Given the description of an element on the screen output the (x, y) to click on. 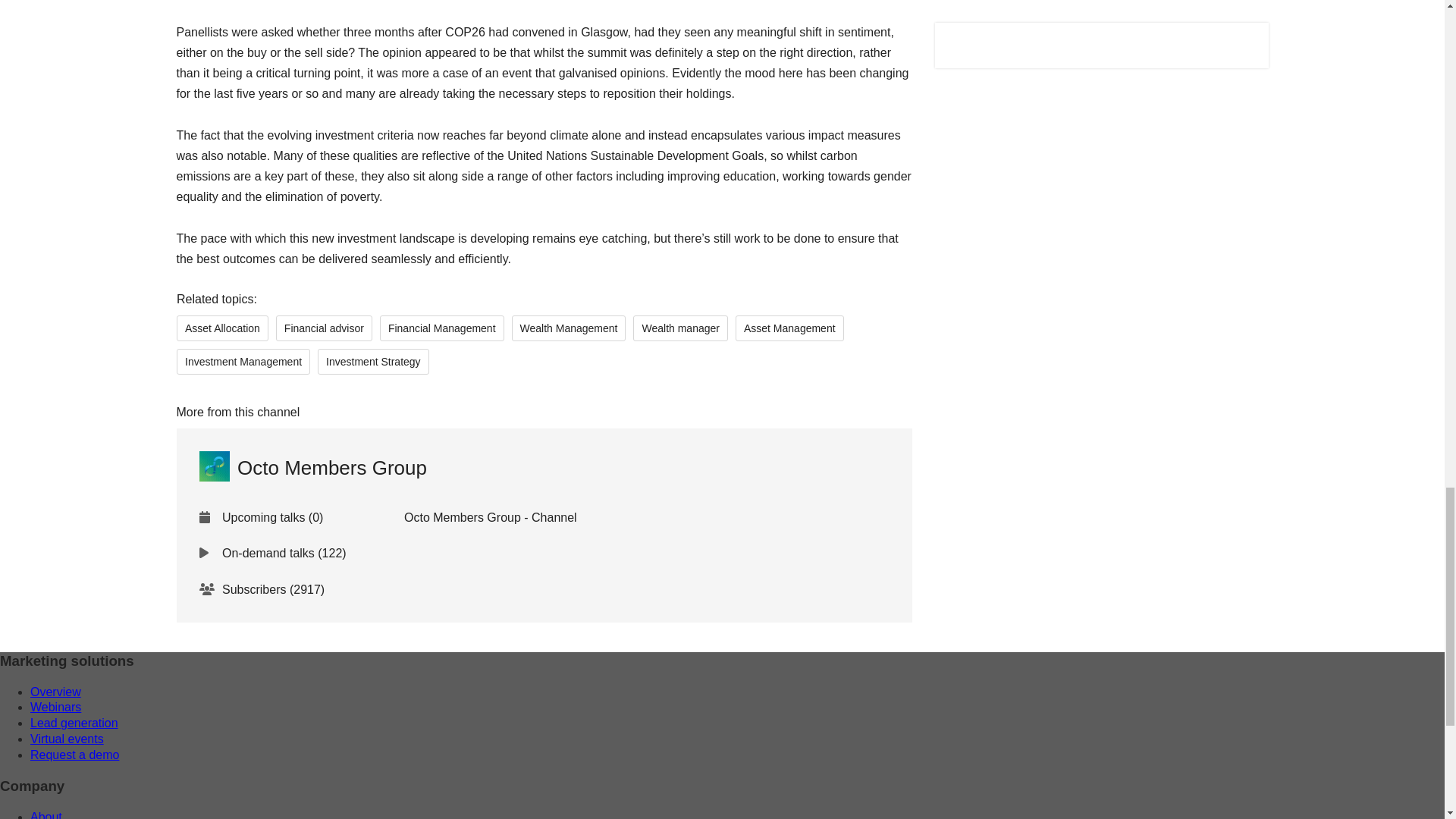
Wealth Management (568, 328)
Asset Allocation (221, 328)
Financial advisor (323, 328)
Asset Management (789, 328)
Wealth manager (679, 328)
Visit Octo Members Group's channel (312, 467)
Octo Members Group (312, 467)
Financial Management (440, 328)
Investment Management (242, 361)
Investment Strategy (373, 361)
